Given the description of an element on the screen output the (x, y) to click on. 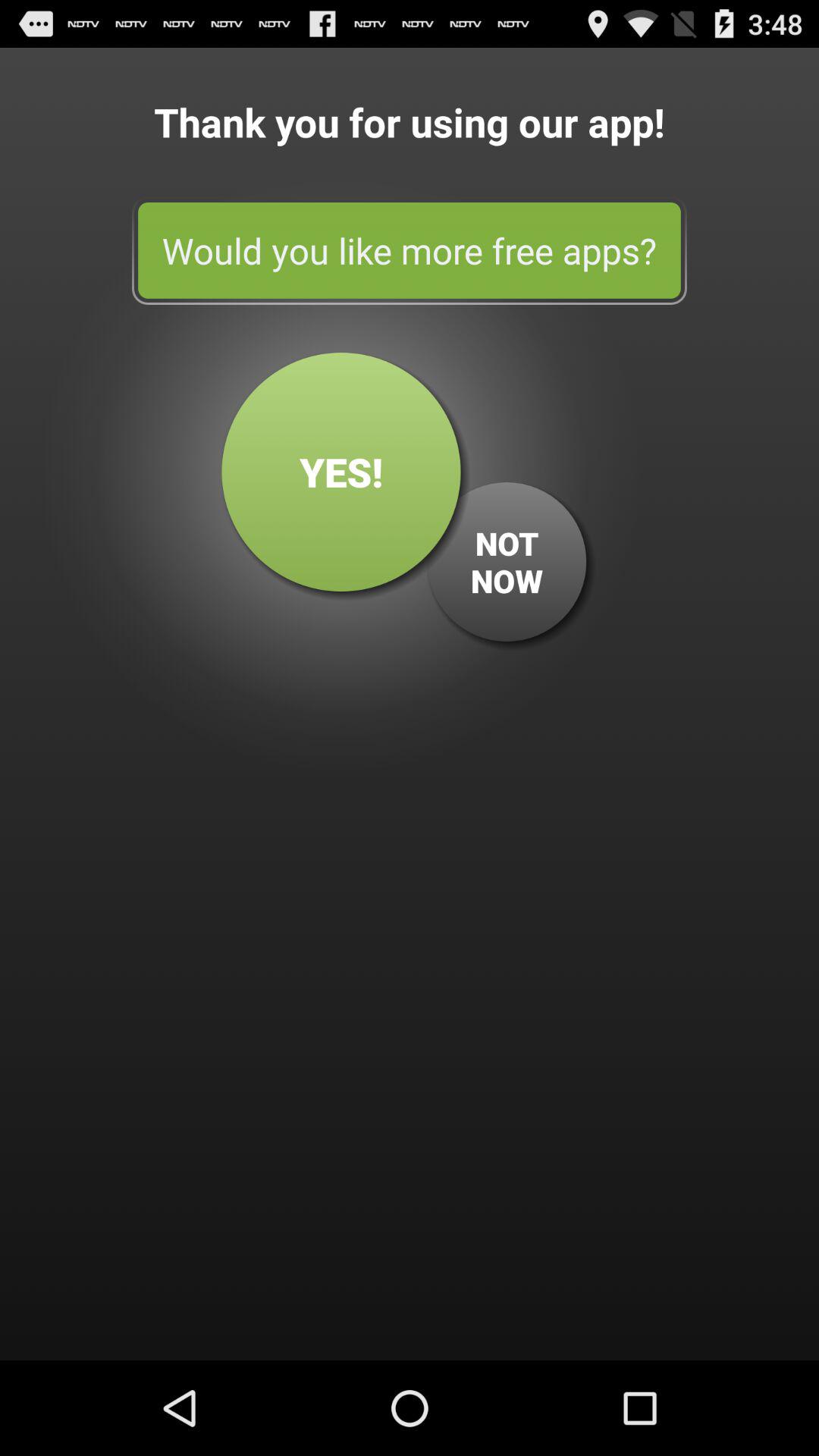
scroll to yes! icon (340, 471)
